Given the description of an element on the screen output the (x, y) to click on. 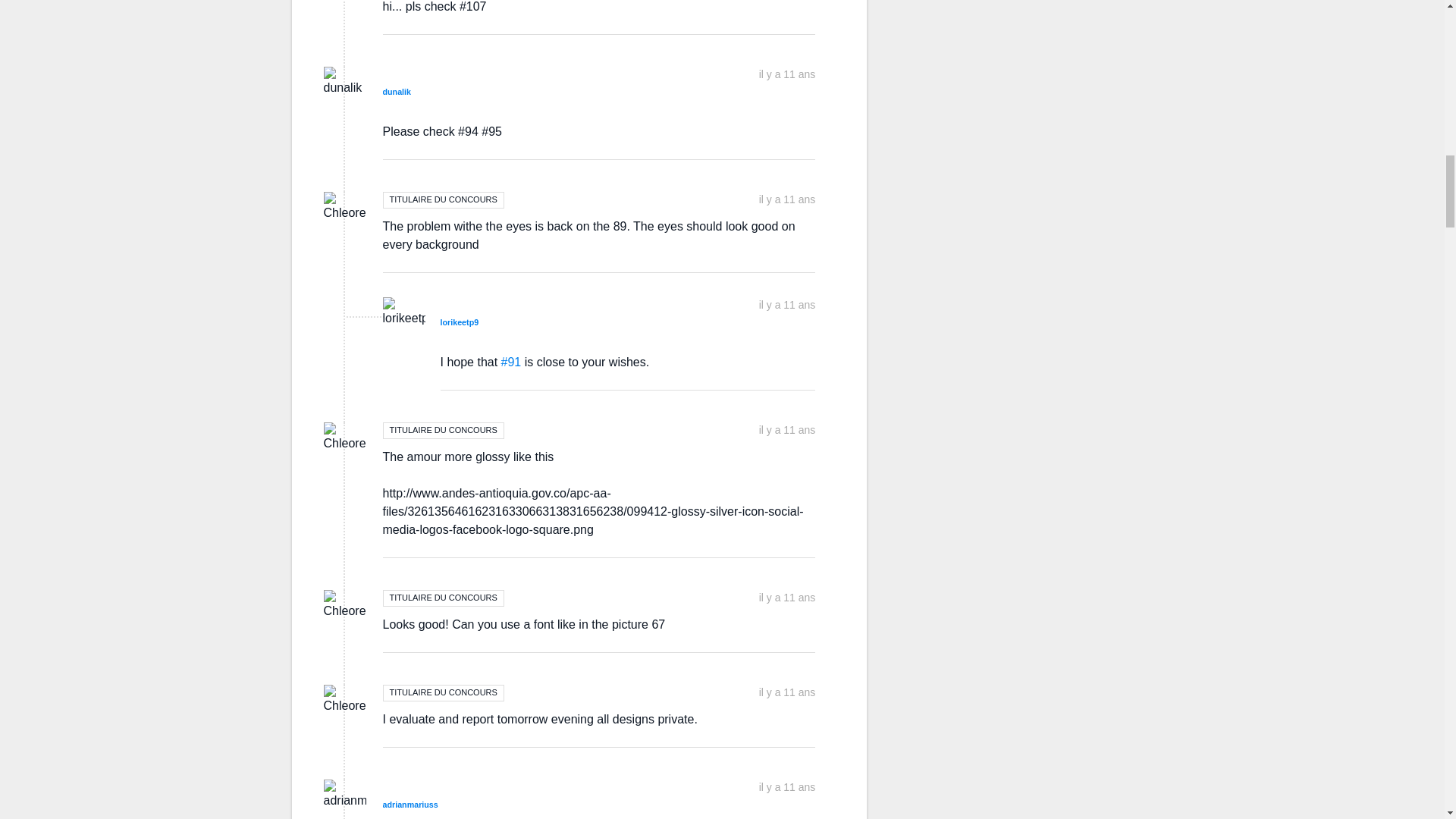
dunalik (395, 91)
adrianmariuss (409, 804)
lorikeetp9 (459, 321)
